Given the description of an element on the screen output the (x, y) to click on. 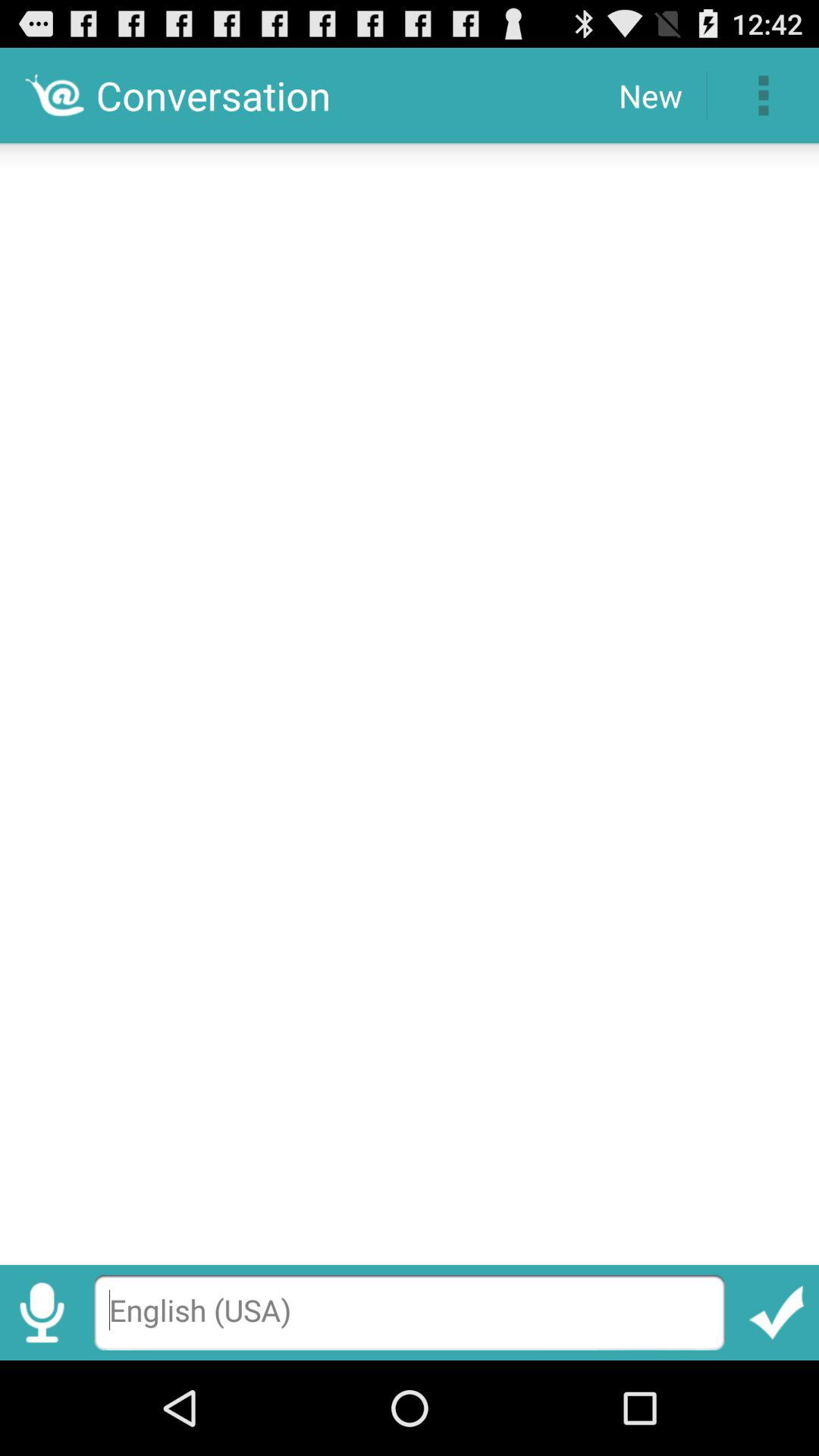
box where chat conversation will be able to be read (409, 698)
